Given the description of an element on the screen output the (x, y) to click on. 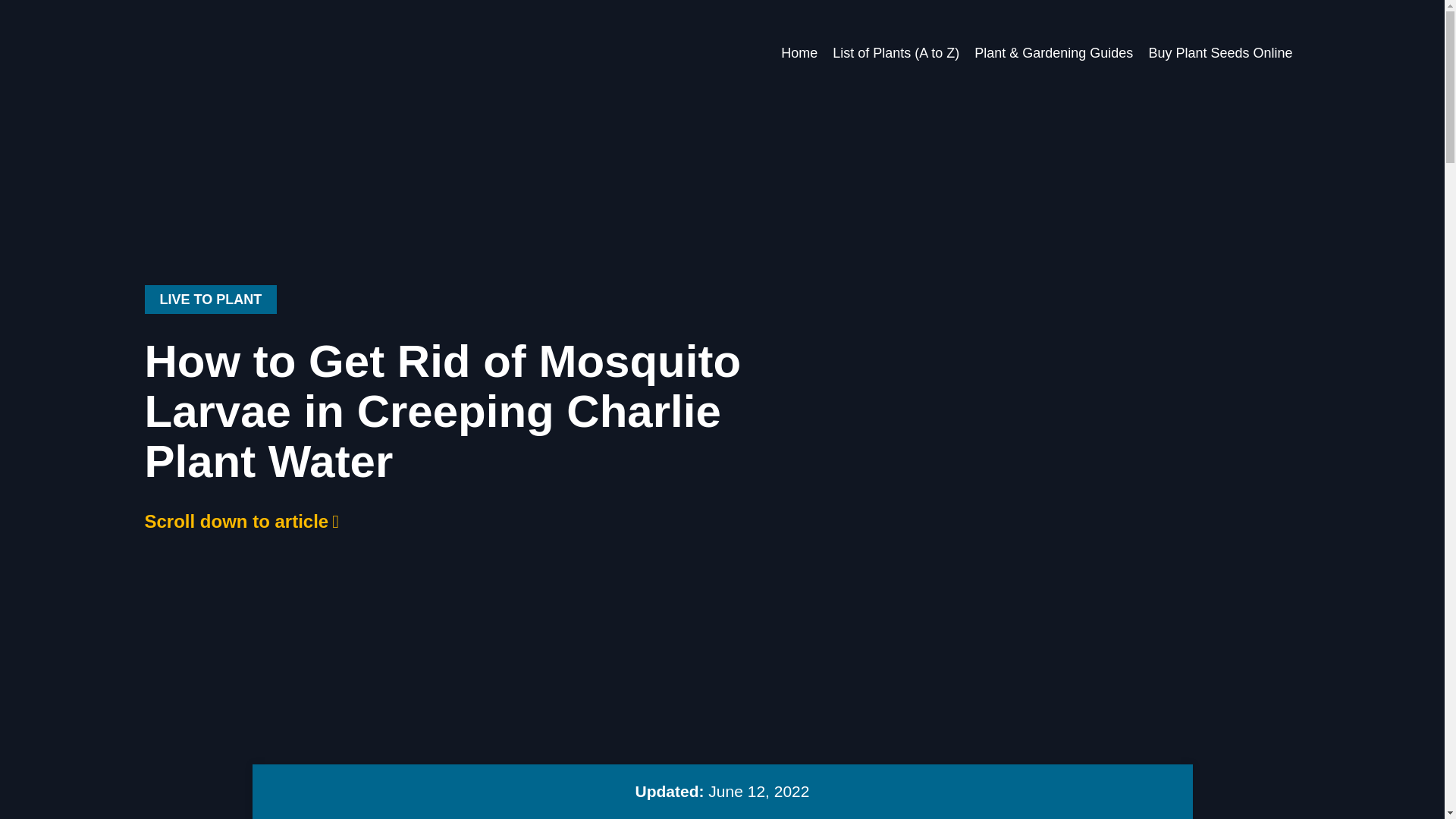
Home (799, 52)
Buy Plant Seeds Online (1220, 52)
Scroll down to article (240, 521)
